Given the description of an element on the screen output the (x, y) to click on. 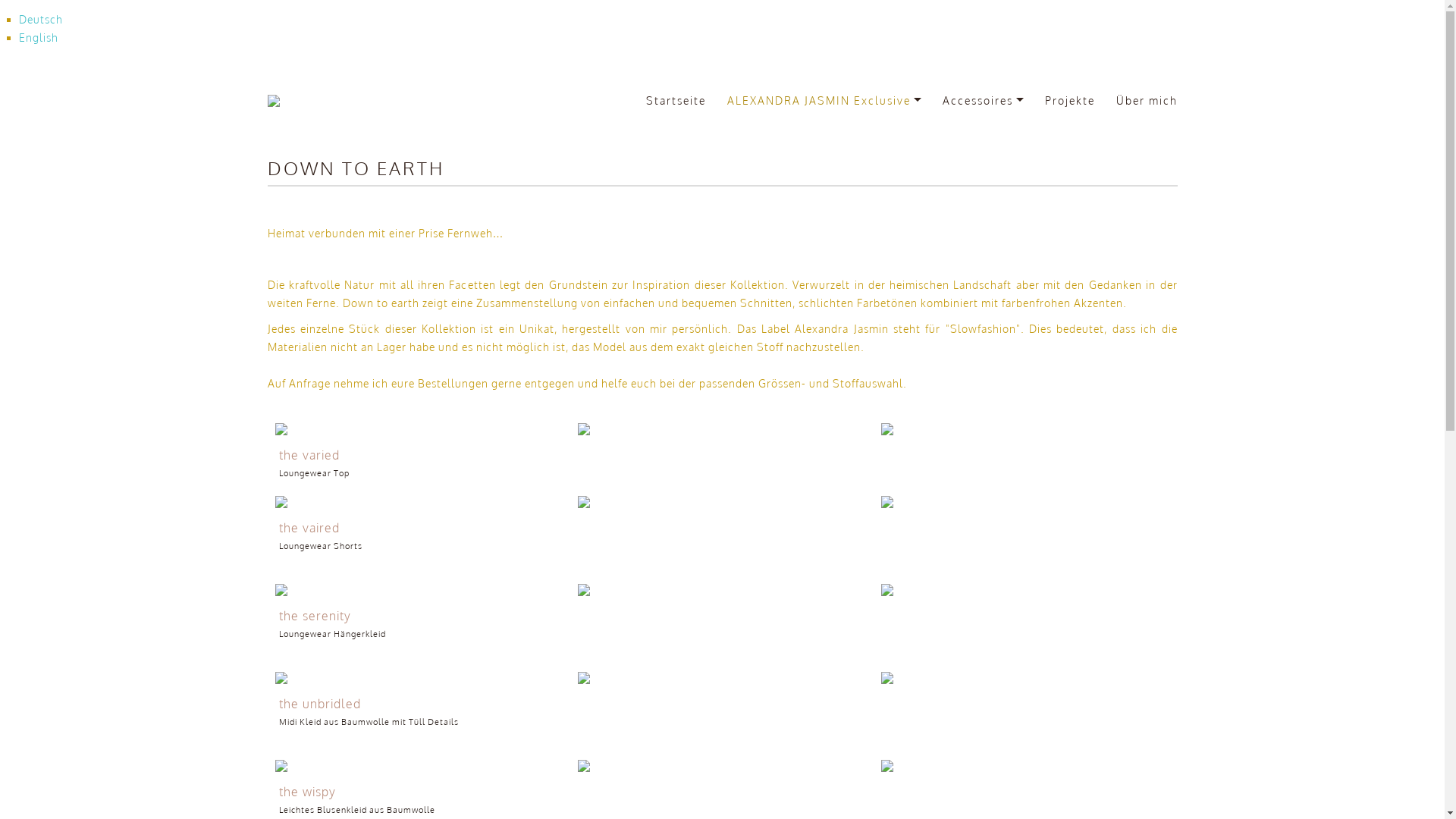
Deutsch Element type: text (40, 18)
Alexandra Jasmin exclusive Element type: hover (343, 100)
the unbridled Element type: hover (418, 677)
the wispy
Leichtes Blusenkleid aus Baumwolle Element type: text (419, 800)
Startseite Element type: text (676, 100)
the vaired Element type: hover (418, 501)
the varied
Loungewear Top Element type: text (419, 463)
the varied Element type: hover (418, 429)
the wispy Element type: hover (418, 765)
Projekte Element type: text (1069, 100)
the serenity Element type: hover (418, 589)
English Element type: text (38, 37)
the vaired
Loungewear Shorts Element type: text (419, 536)
